Given the description of an element on the screen output the (x, y) to click on. 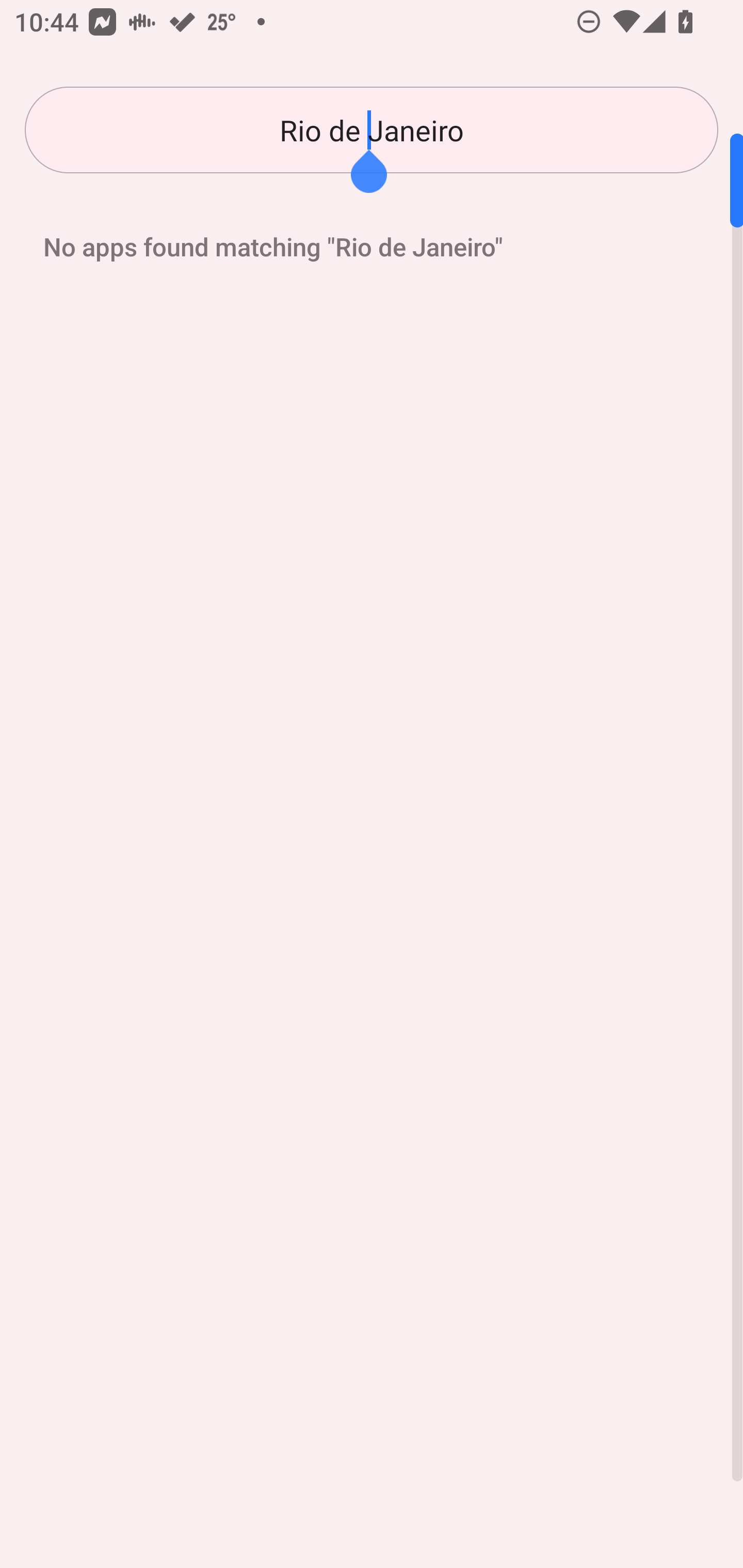
Rio de Janeiro (371, 130)
